Given the description of an element on the screen output the (x, y) to click on. 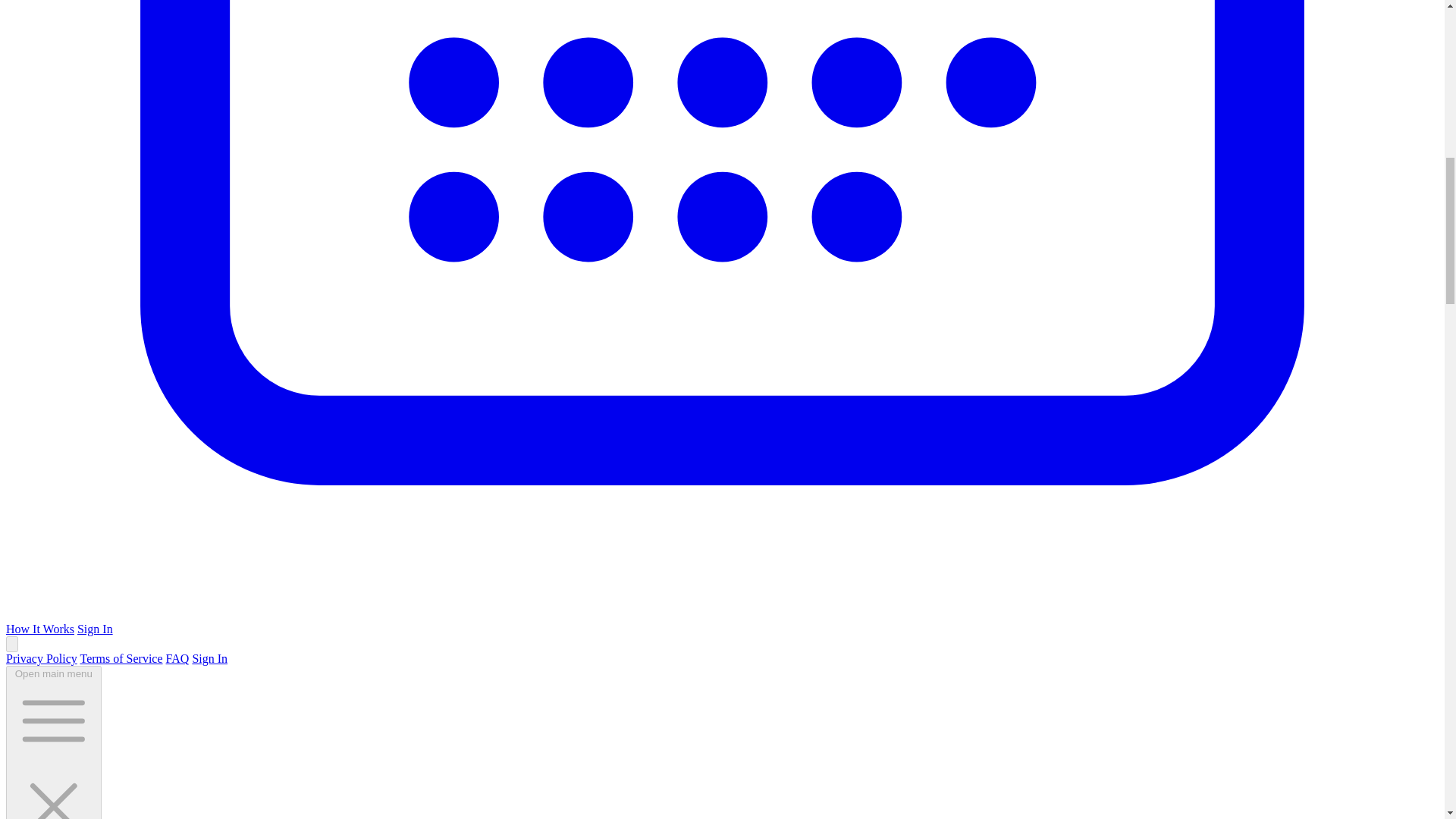
FAQ (177, 658)
Sign In (95, 628)
Privacy Policy (41, 658)
Sign In (209, 658)
Terms of Service (120, 658)
How It Works (39, 628)
